Given the description of an element on the screen output the (x, y) to click on. 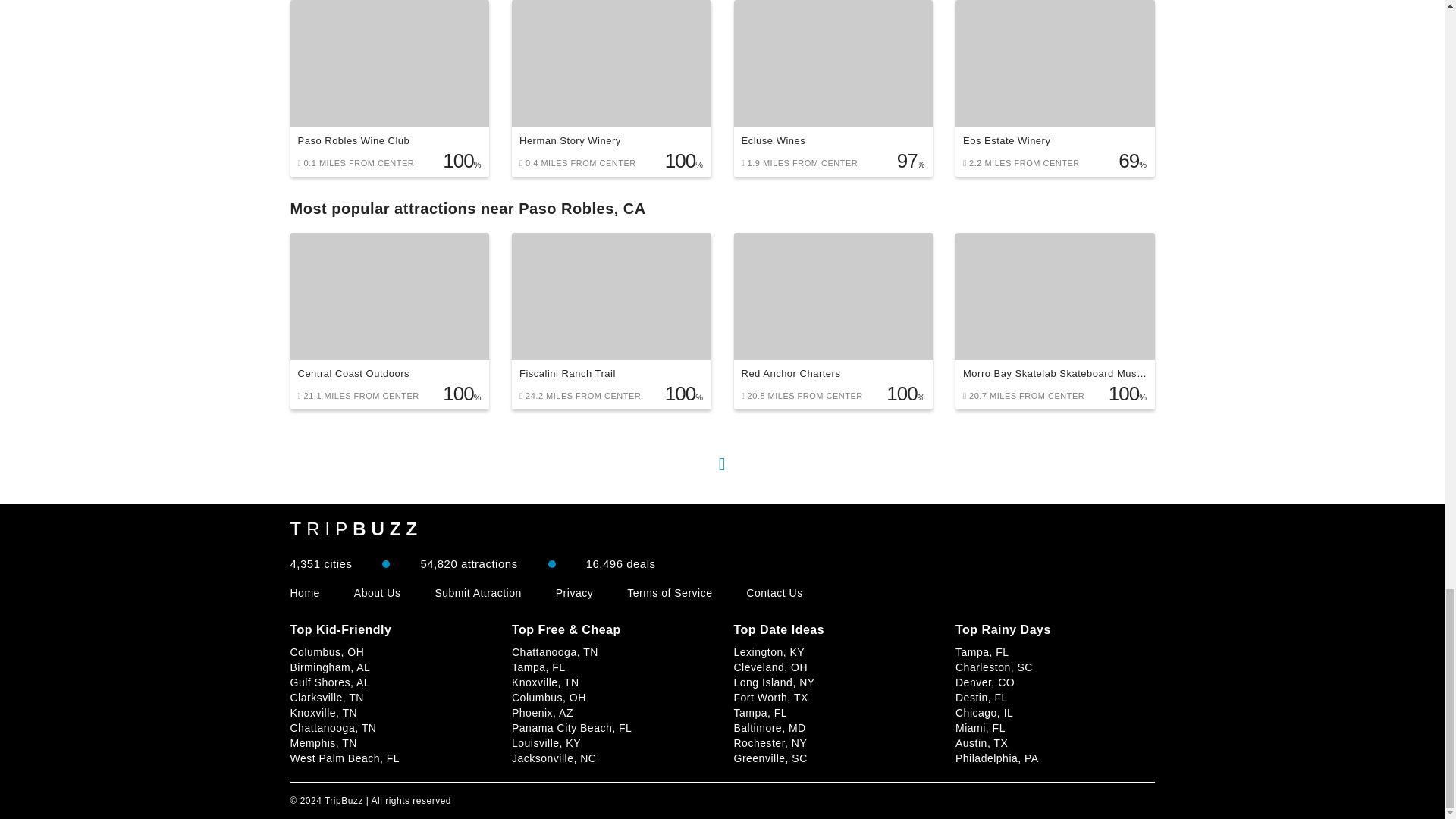
About (377, 592)
Privacy (574, 592)
Terms of Service (669, 592)
